Given the description of an element on the screen output the (x, y) to click on. 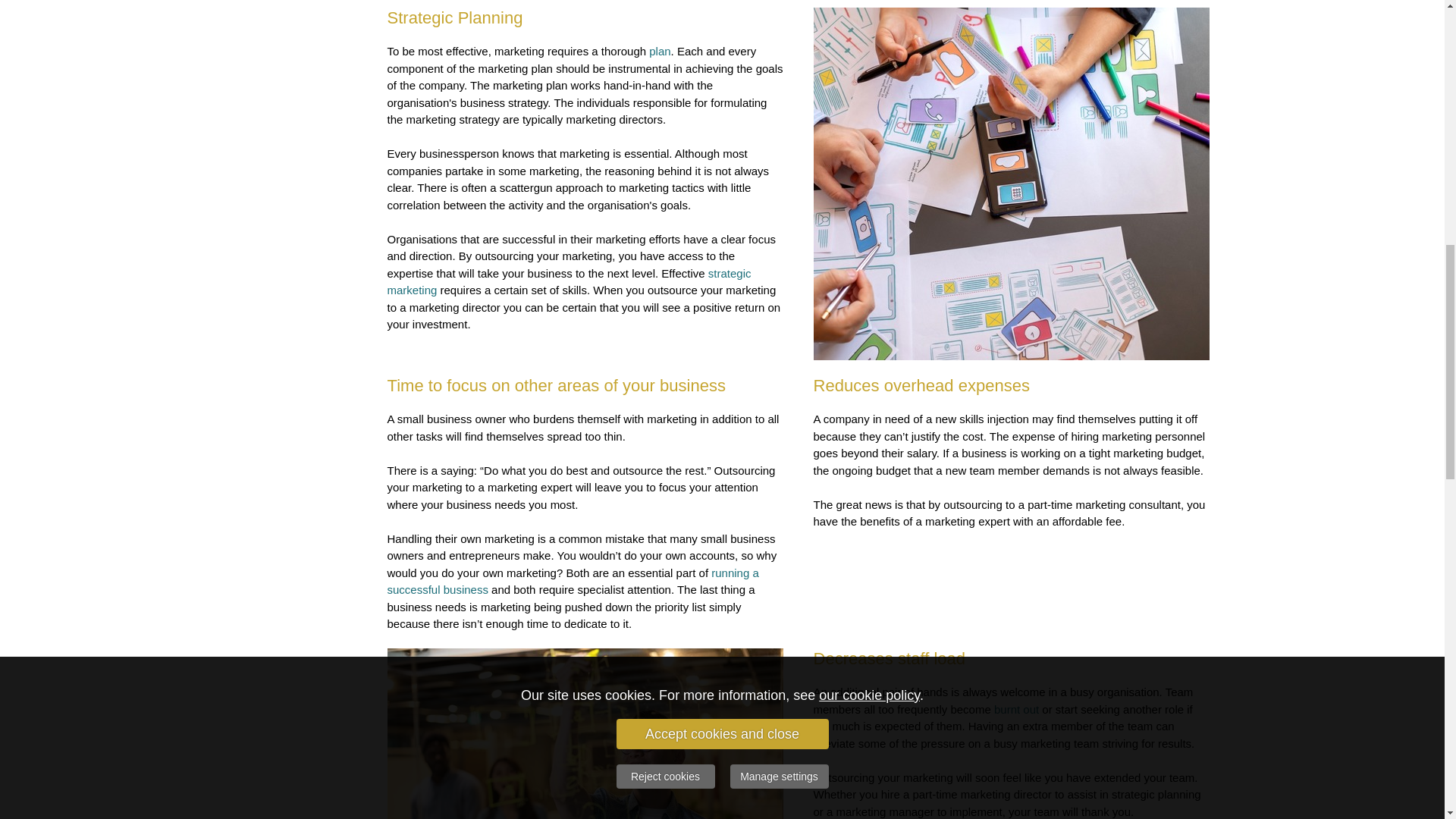
running a successful business (574, 581)
strategic marketing (570, 281)
plan (659, 51)
burnt out (1016, 708)
